Given the description of an element on the screen output the (x, y) to click on. 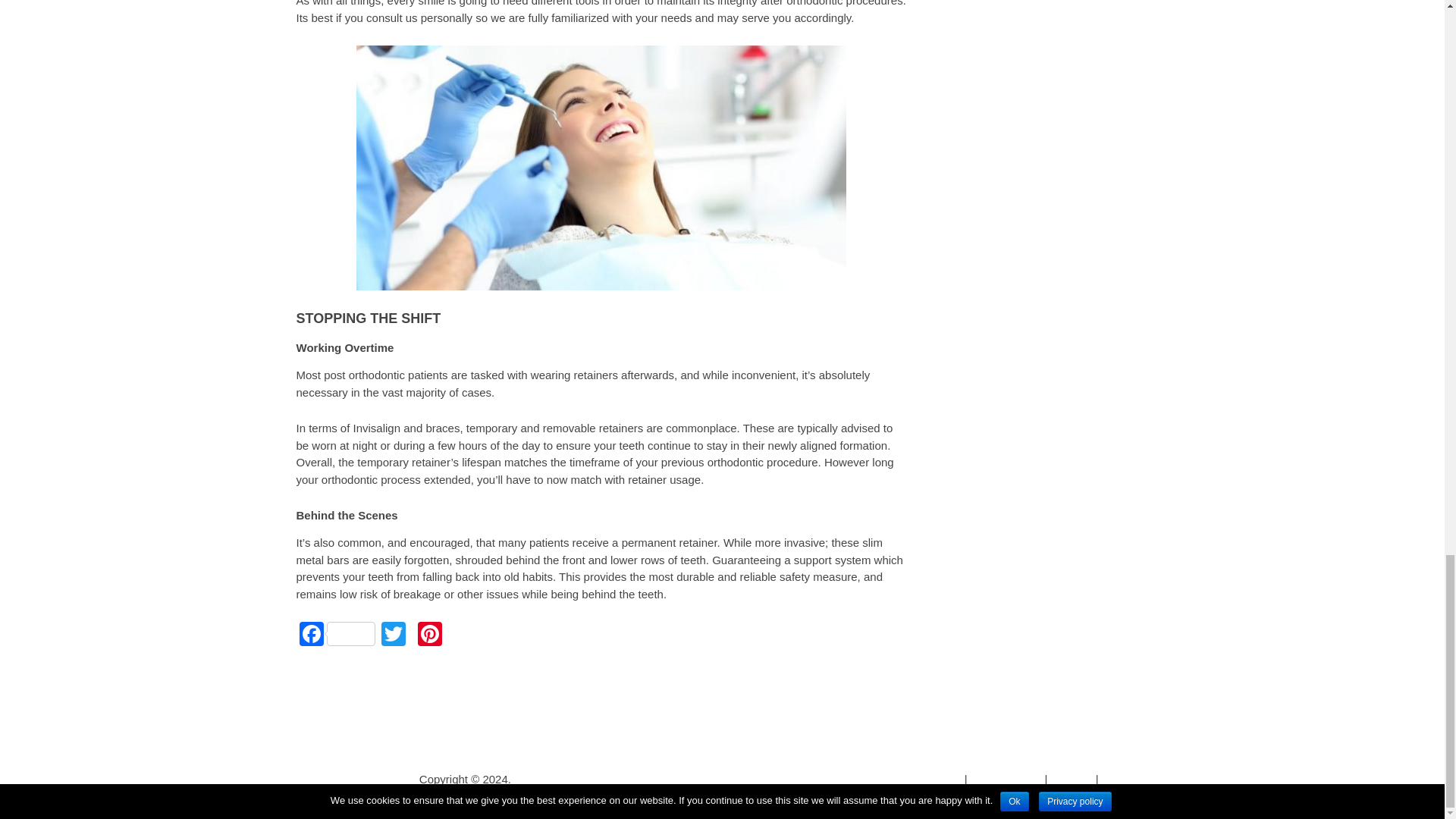
Terms And Conditions (905, 779)
Women Daily Magazine (354, 779)
Sitemap (1072, 779)
Pinterest (428, 635)
Facebook (336, 635)
Contact (1121, 779)
Twitter (392, 635)
"Find your journey to happiness" (354, 779)
Facebook (336, 635)
Twitter (392, 635)
Privacy Policy (1006, 779)
Pinterest (428, 635)
